Given the description of an element on the screen output the (x, y) to click on. 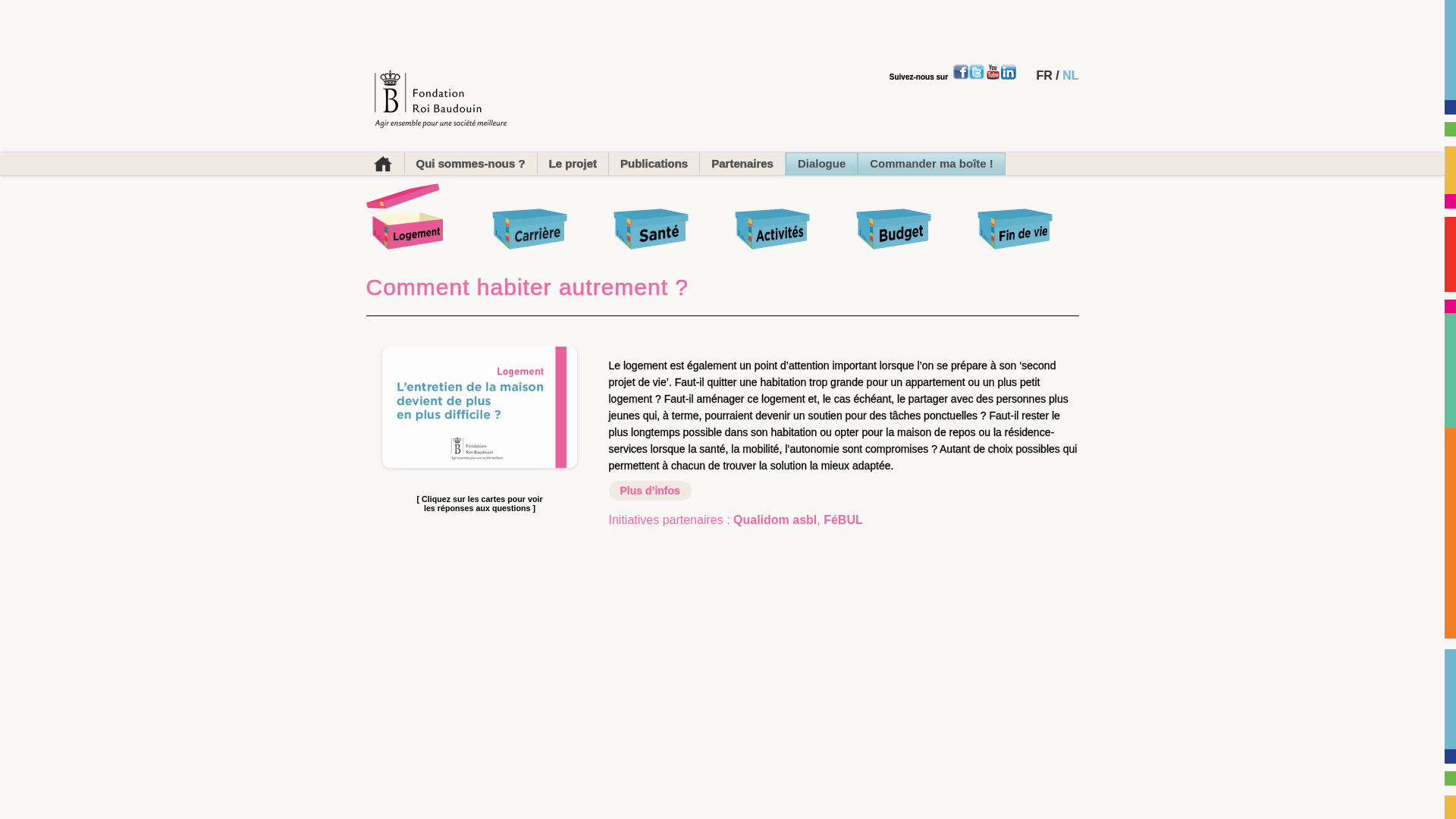
Qualidom asbl Element type: text (774, 519)
Youtube Element type: hover (992, 71)
Twitter Element type: hover (976, 71)
Publications Element type: text (653, 163)
LinkedIn Element type: hover (1008, 71)
Facebook Element type: hover (960, 71)
Le projet Element type: text (572, 163)
Dialogue Element type: text (821, 163)
NL Element type: text (1070, 75)
Qui sommes-nous ? Element type: text (470, 163)
Partenaires Element type: text (742, 163)
